Given the description of an element on the screen output the (x, y) to click on. 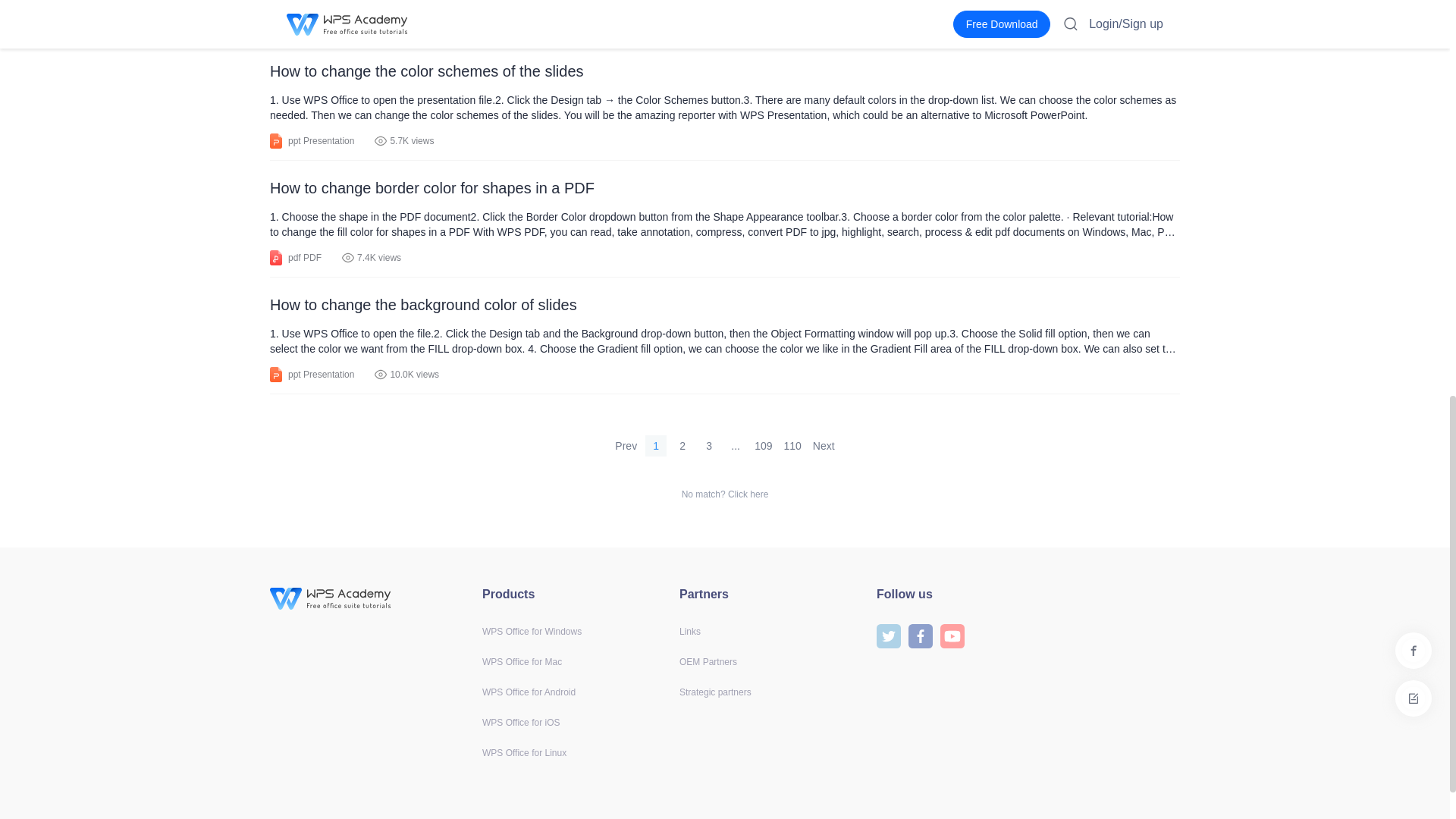
How to change the background color of slides (724, 304)
3 (708, 445)
... (735, 445)
Prev (625, 445)
Next (823, 445)
1 (655, 445)
110 (792, 445)
2 (682, 445)
How to change the color schemes of the slides (724, 70)
109 (762, 445)
WPS Office for Windows (530, 631)
WPS Office for Mac (521, 661)
No match? Click here (724, 494)
How to change border color for shapes in a PDF (724, 187)
